Given the description of an element on the screen output the (x, y) to click on. 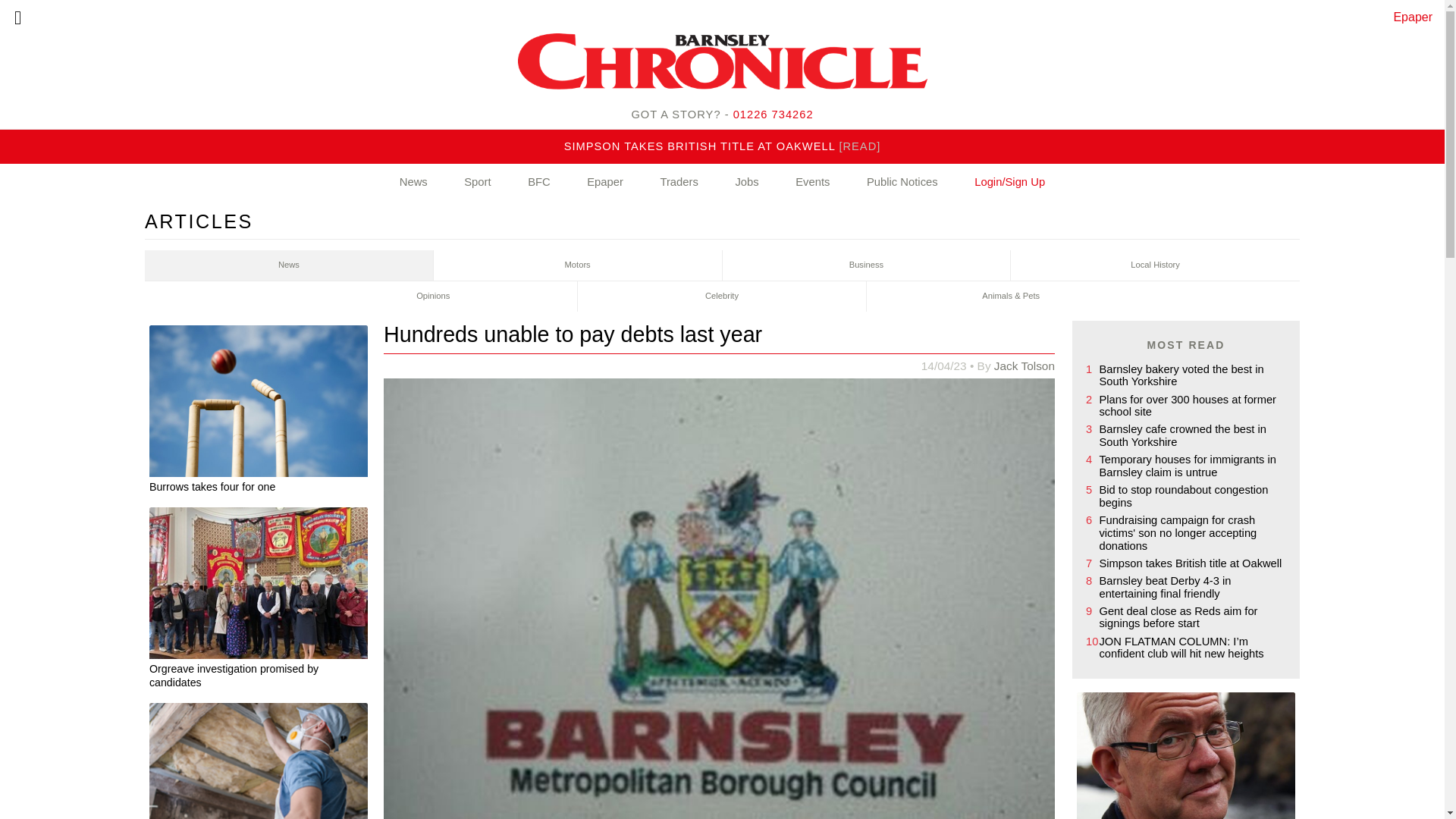
Epaper (604, 182)
Public Notices (902, 182)
BFC (539, 182)
Events (812, 182)
News (413, 182)
Local History (1155, 265)
01226 734262 (773, 114)
News (288, 265)
Epaper (1412, 16)
Opinions (433, 296)
